Given the description of an element on the screen output the (x, y) to click on. 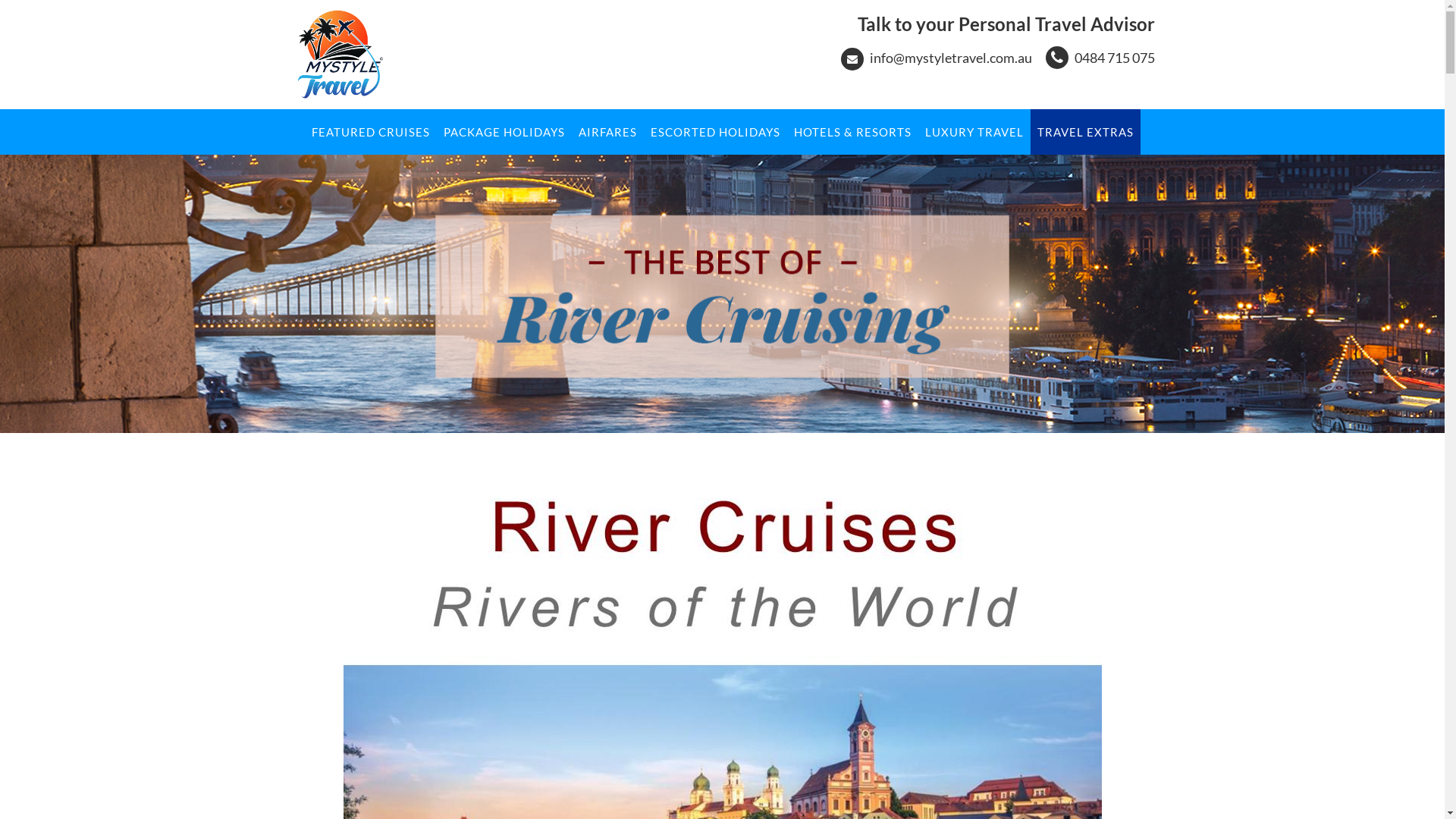
FEATURED CRUISES Element type: text (369, 131)
AIRFARES Element type: text (606, 131)
LUXURY TRAVEL Element type: text (974, 131)
0484 715 075 Element type: text (1113, 57)
TRAVEL EXTRAS Element type: text (1085, 131)
PACKAGE HOLIDAYS Element type: text (503, 131)
HOTELS & RESORTS Element type: text (851, 131)
info@mystyletravel.com.au Element type: text (950, 57)
MyStyle Travel logo Element type: hover (338, 54)
ESCORTED HOLIDAYS Element type: text (715, 131)
